Given the description of an element on the screen output the (x, y) to click on. 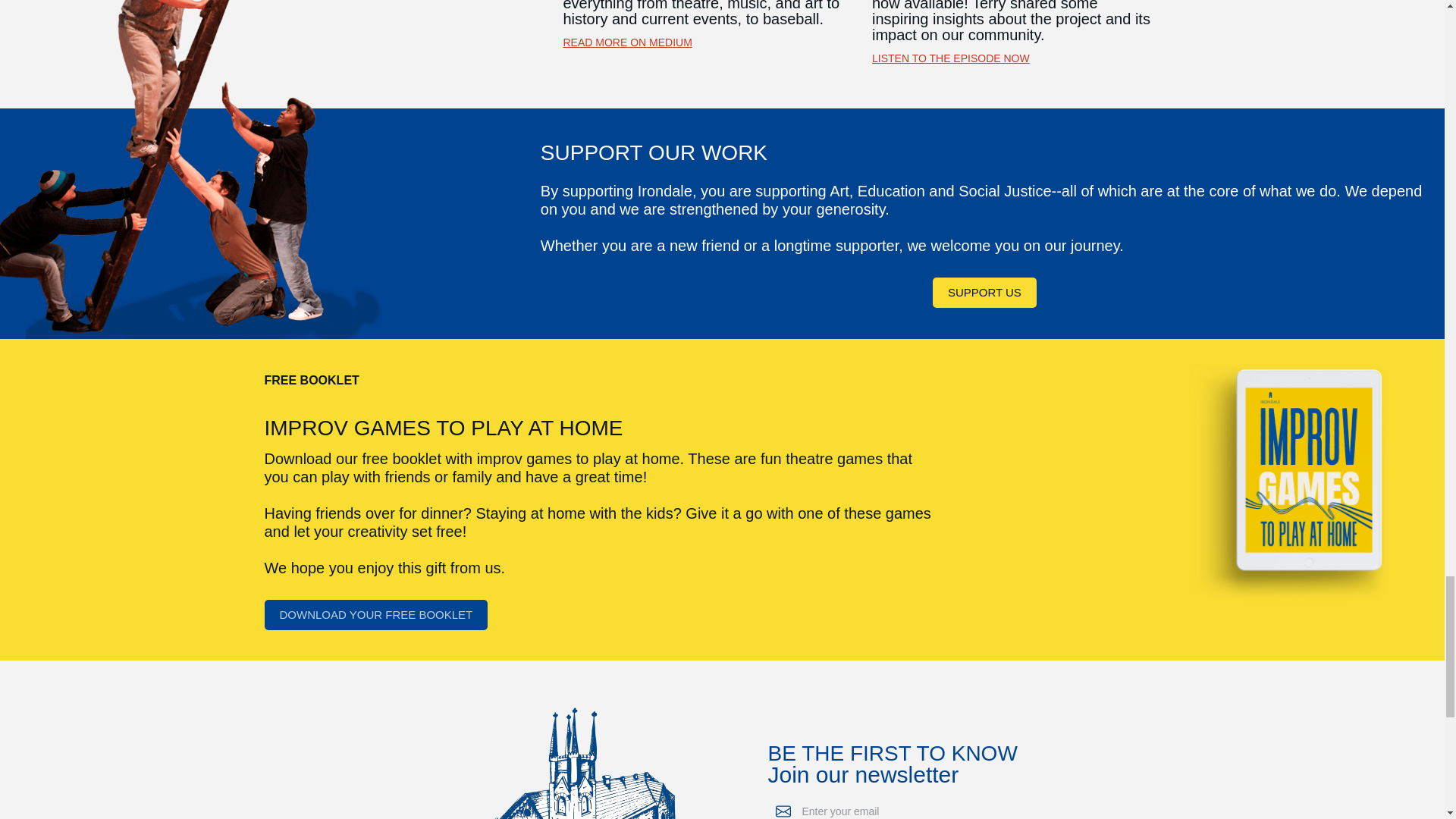
DOWNLOAD YOUR FREE BOOKLET (375, 614)
SUPPORT US (984, 292)
READ MORE ON MEDIUM (626, 42)
LISTEN TO THE EPISODE NOW (950, 58)
